Given the description of an element on the screen output the (x, y) to click on. 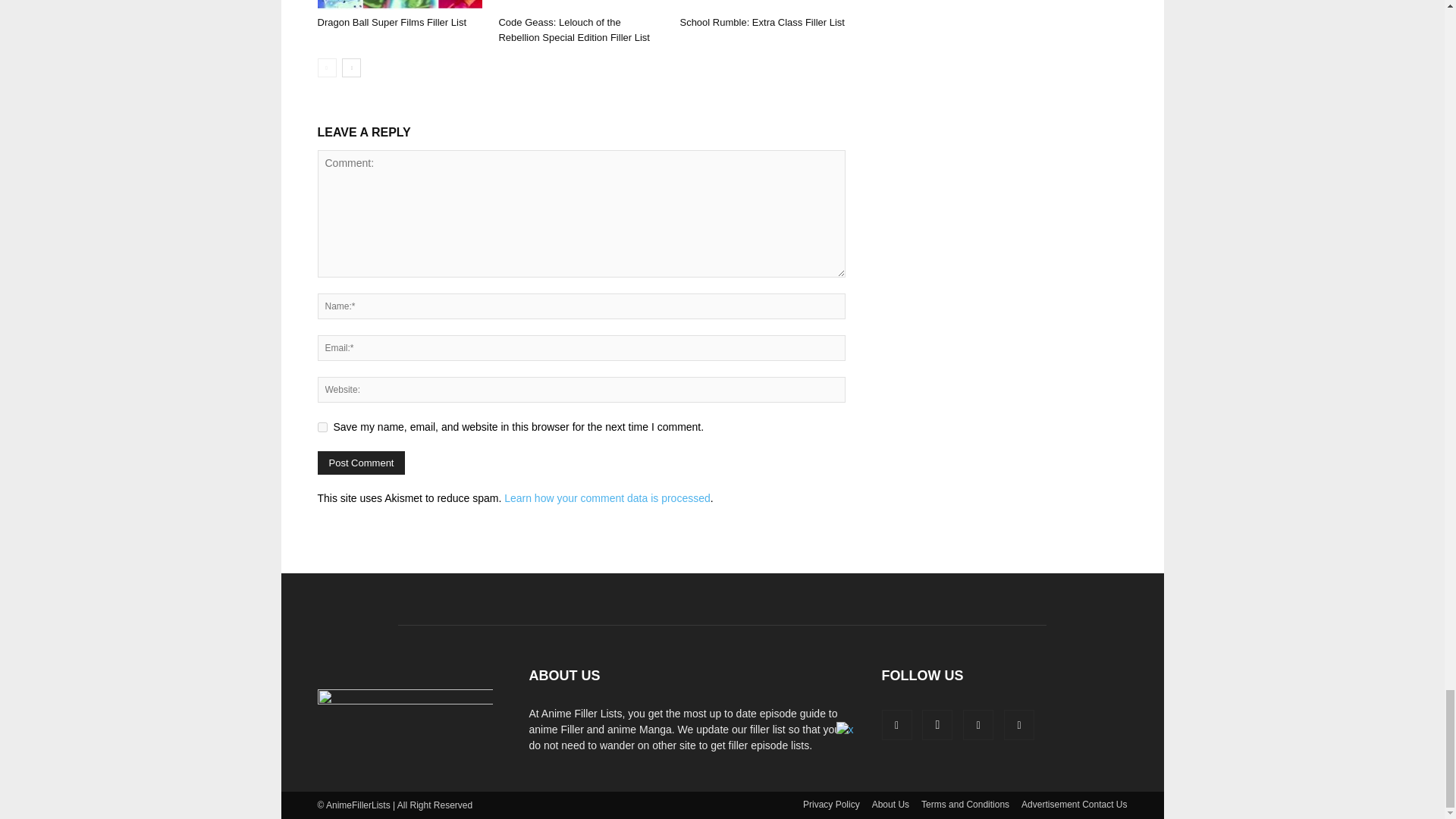
yes (321, 427)
Dragon Ball Super Films Filler List (391, 21)
Post Comment (360, 463)
